Given the description of an element on the screen output the (x, y) to click on. 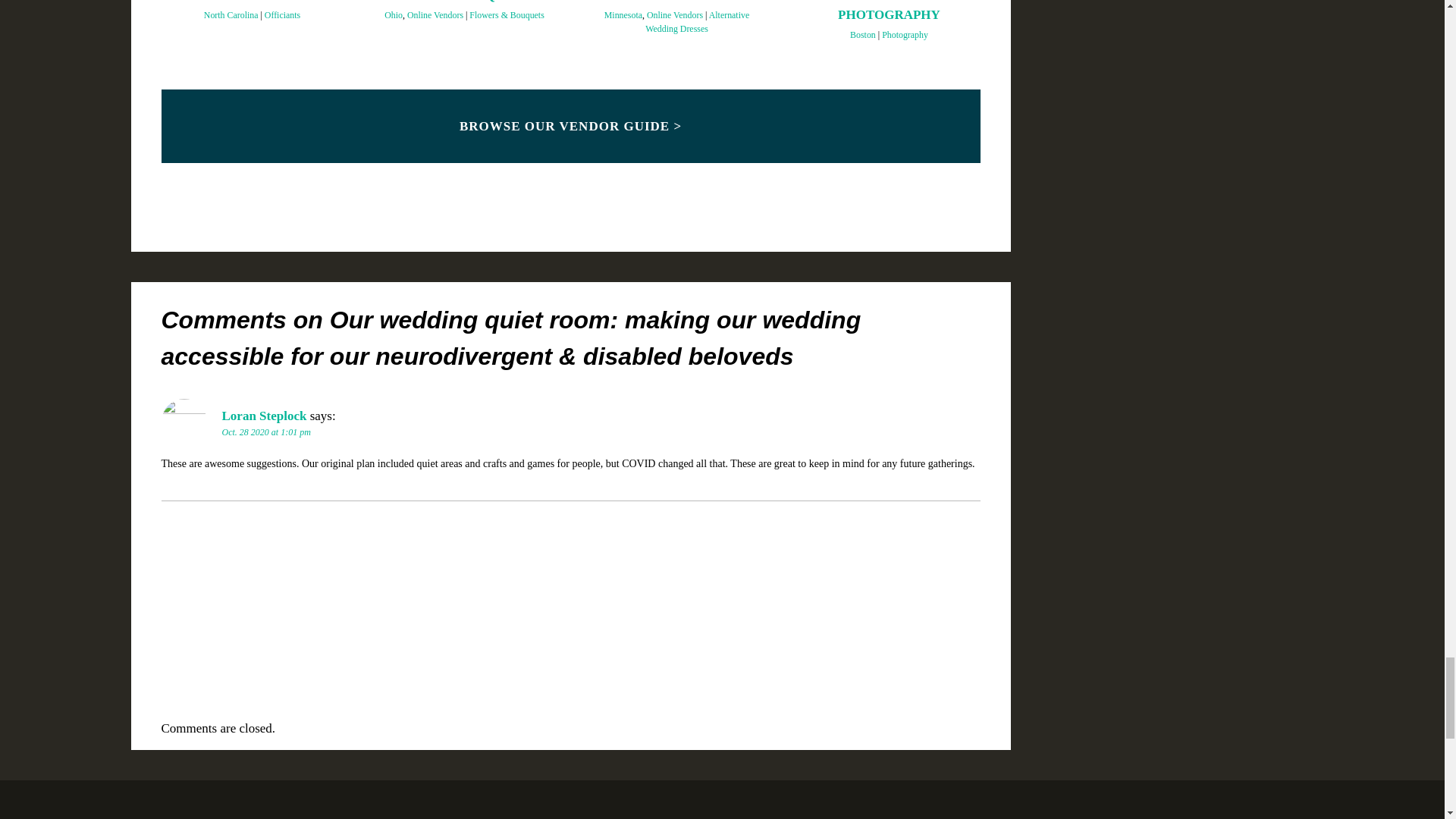
MacRamos Photography (888, 12)
Beheld Bouquets (463, 2)
Many Rivers Ministries (251, 2)
KMKDesigns (676, 2)
